Given the description of an element on the screen output the (x, y) to click on. 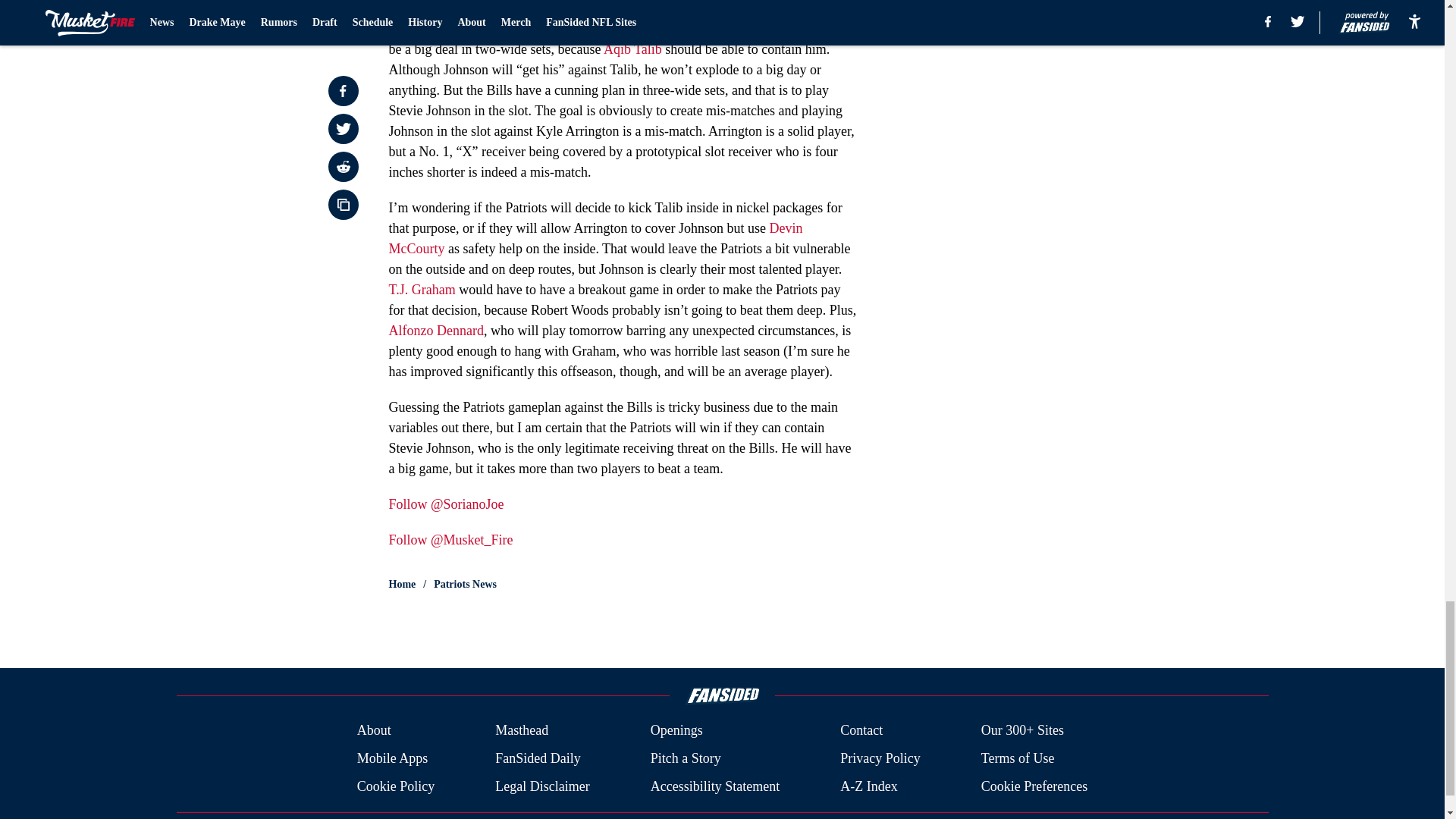
Aqib Talib (633, 48)
T.J. Graham (421, 289)
Alfonzo Dennard (435, 330)
Devin McCourty (595, 238)
Home (401, 584)
